Given the description of an element on the screen output the (x, y) to click on. 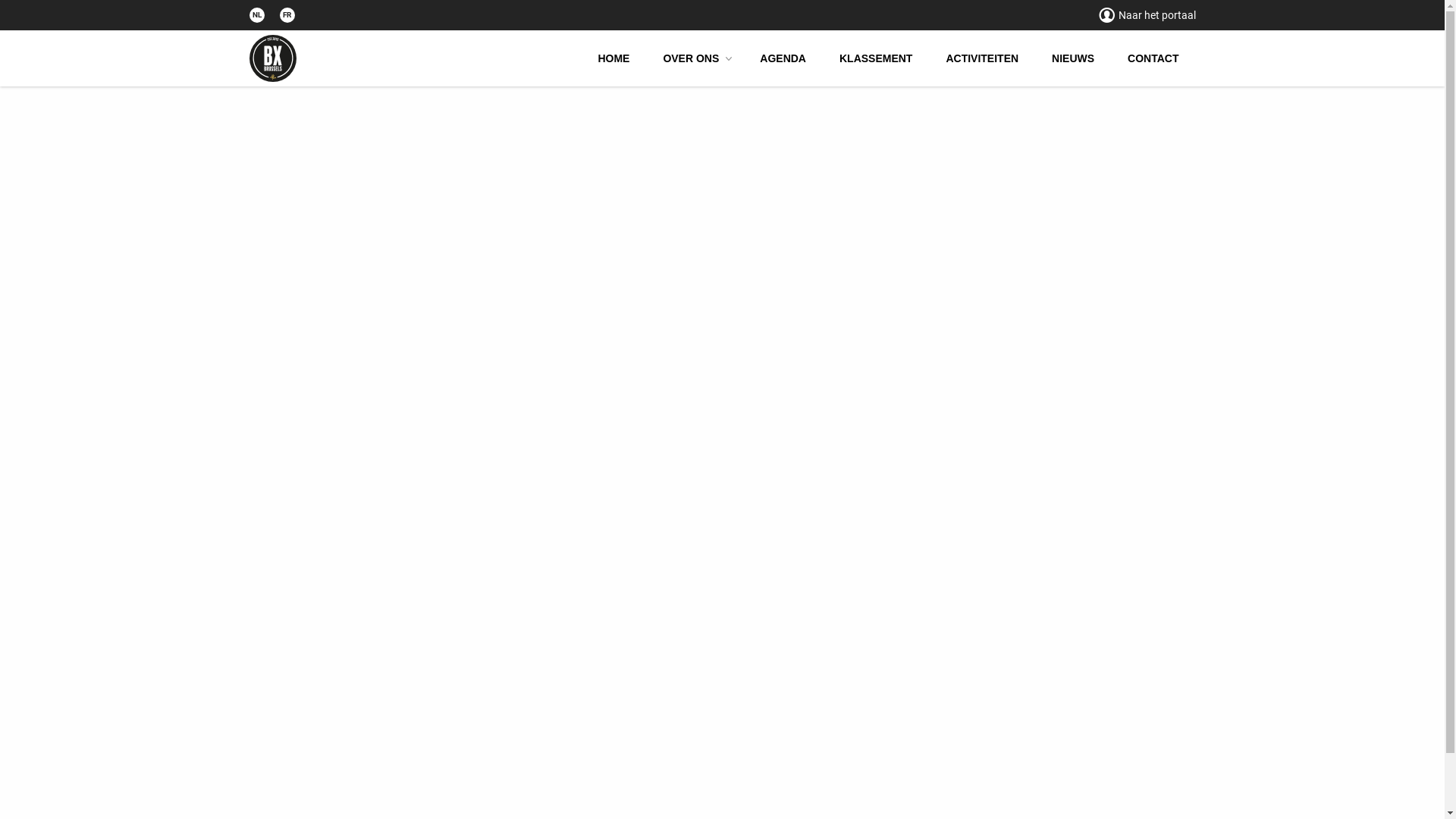
ACTIVITEITEN Element type: text (981, 58)
HOME Element type: text (613, 58)
CONTACT Element type: text (1152, 58)
AGENDA Element type: text (782, 58)
KLASSEMENT Element type: text (875, 58)
NIEUWS Element type: text (1072, 58)
